Given the description of an element on the screen output the (x, y) to click on. 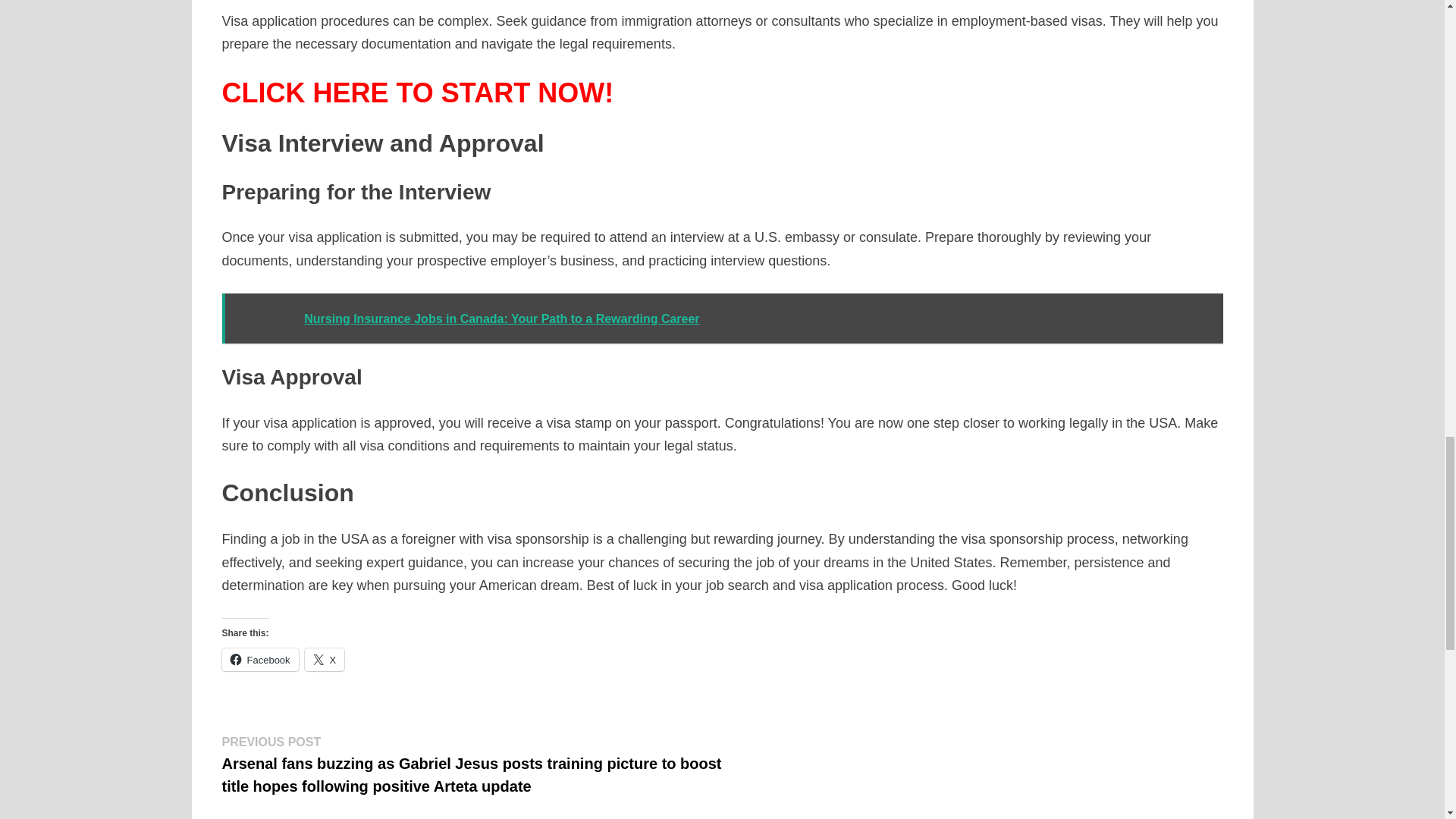
Click to share on X (324, 659)
X (324, 659)
Facebook (259, 659)
CLICK HERE TO START NOW! (416, 92)
Click to share on Facebook (259, 659)
